Given the description of an element on the screen output the (x, y) to click on. 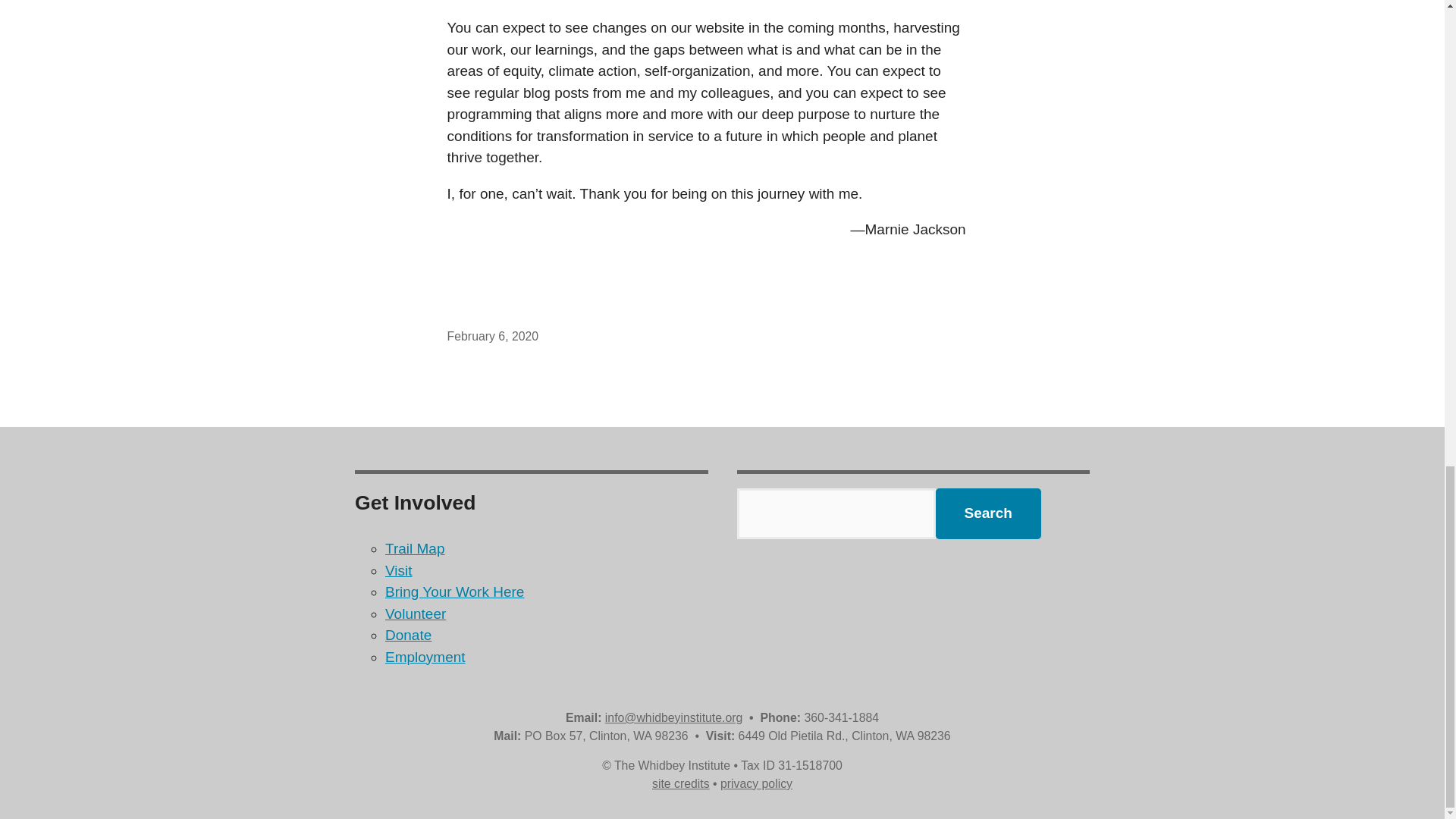
Trail Map (414, 548)
Search (988, 513)
site credits (681, 783)
Visit (398, 570)
Donate (407, 634)
privacy policy (756, 783)
Employment (425, 657)
Bring Your Work Here (454, 591)
Search (988, 513)
Volunteer (415, 613)
